Given the description of an element on the screen output the (x, y) to click on. 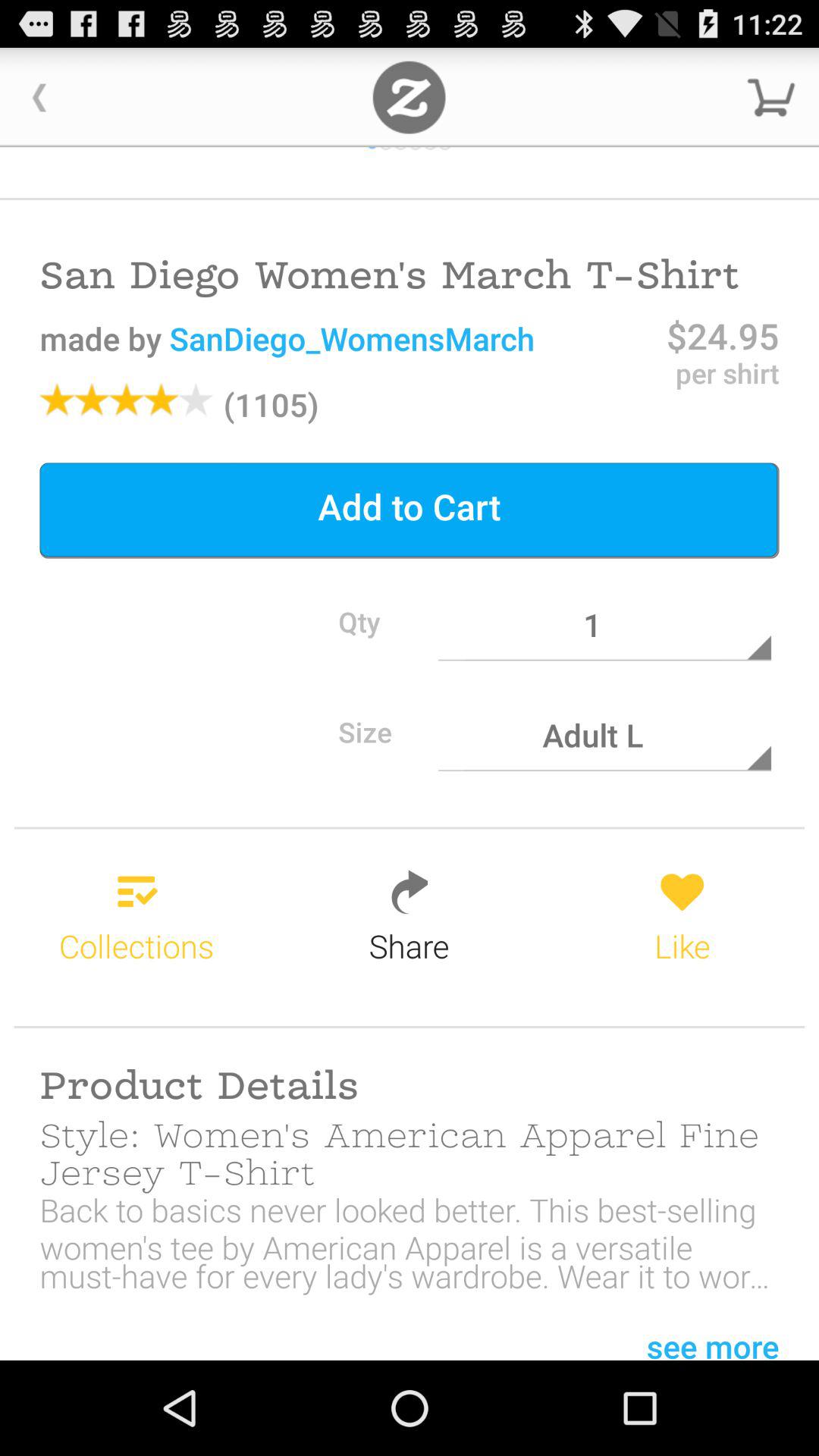
open page (408, 97)
